Given the description of an element on the screen output the (x, y) to click on. 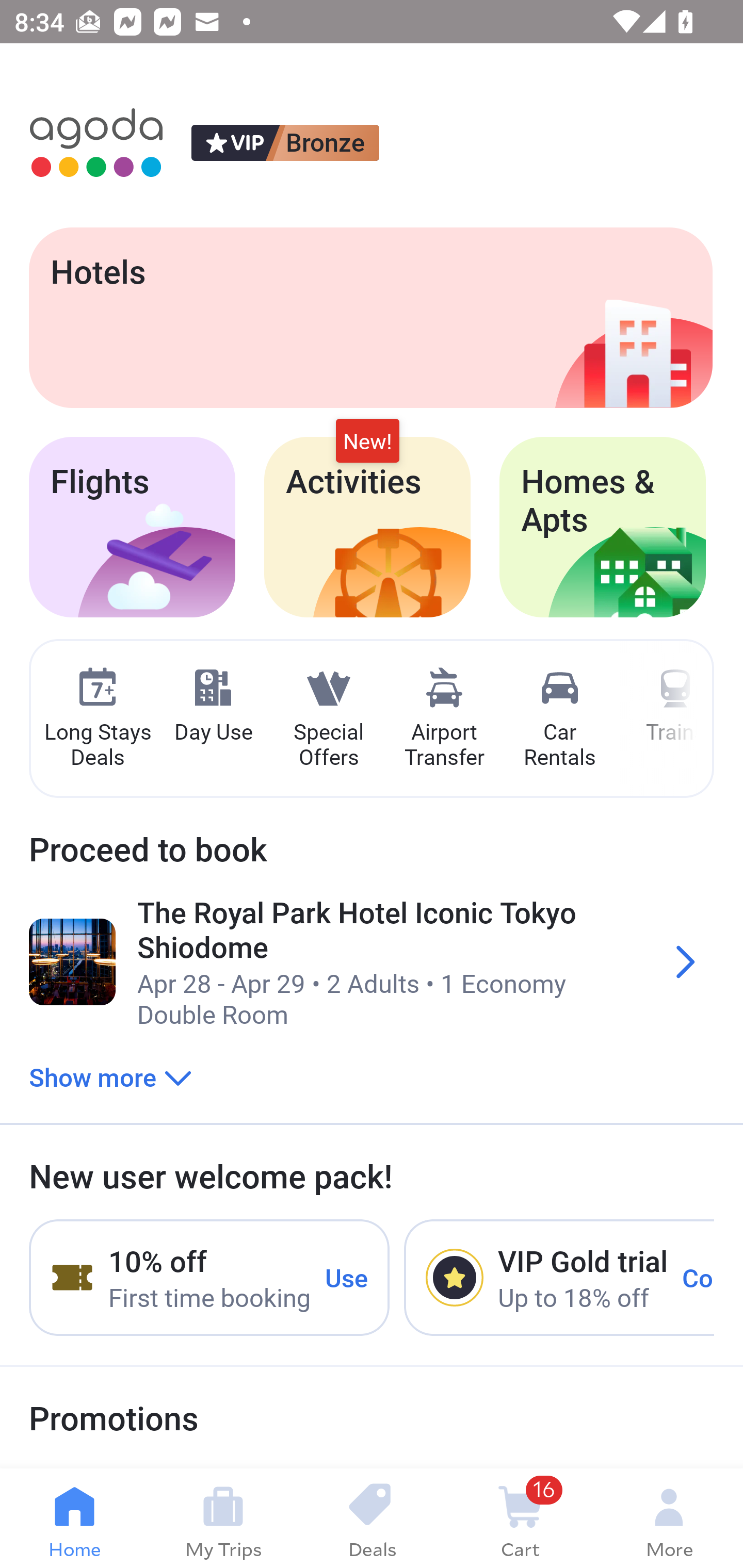
Hotels (370, 317)
New! (367, 441)
Flights (131, 527)
Activities (367, 527)
Homes & Apts (602, 527)
Day Use (213, 706)
Long Stays Deals (97, 718)
Special Offers (328, 718)
Airport Transfer (444, 718)
Car Rentals (559, 718)
Show more (110, 1076)
Use (346, 1277)
Home (74, 1518)
My Trips (222, 1518)
Deals (371, 1518)
16 Cart (519, 1518)
More (668, 1518)
